Given the description of an element on the screen output the (x, y) to click on. 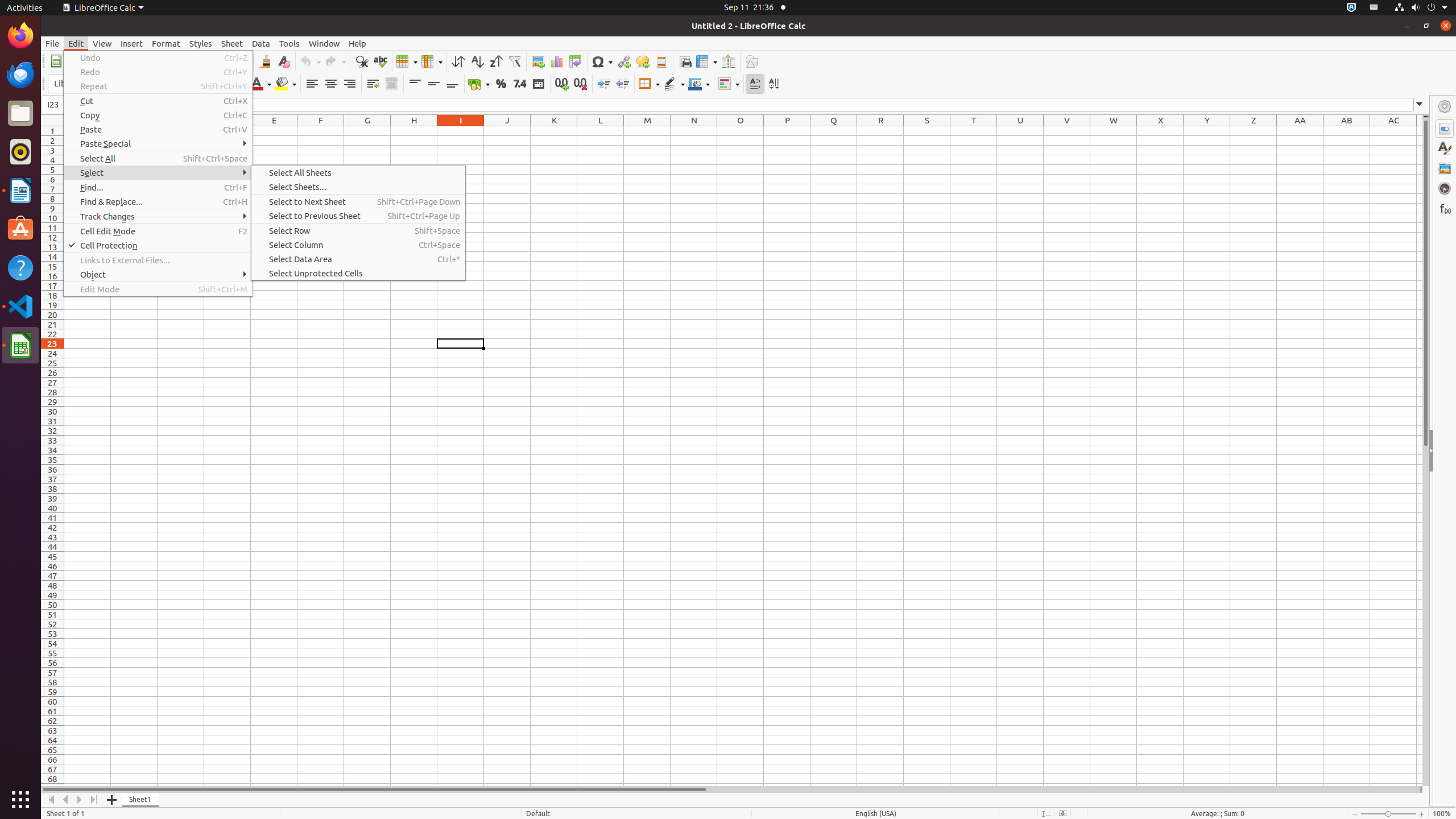
L1 Element type: table-cell (600, 130)
Draw Functions Element type: toggle-button (751, 61)
F1 Element type: table-cell (320, 130)
Repeat Element type: menu-item (157, 86)
